Given the description of an element on the screen output the (x, y) to click on. 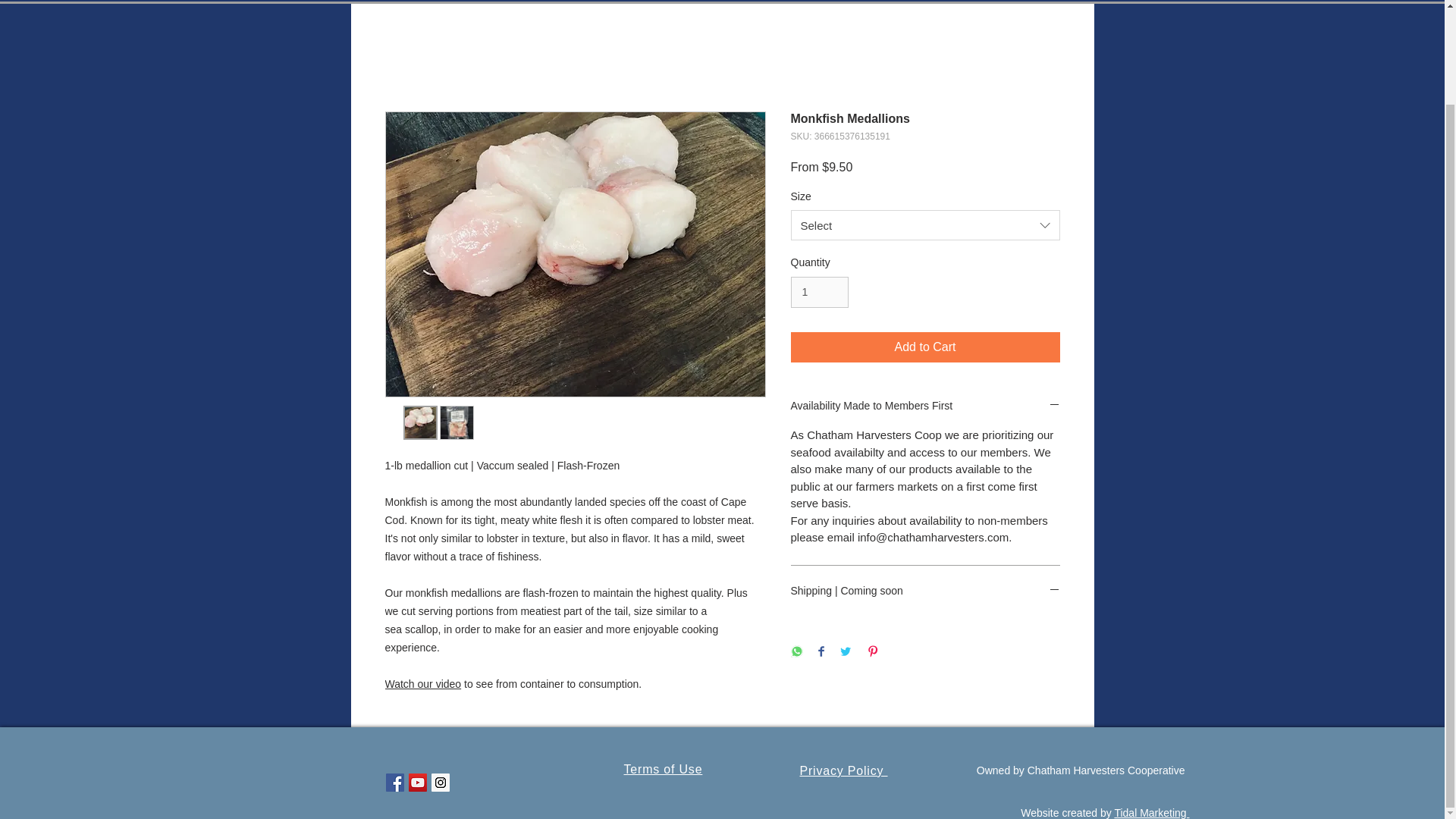
1 (818, 291)
Terms of Use (662, 768)
Privacy Policy  (842, 770)
Select (924, 224)
Watch our video (423, 684)
Availability Made to Members First (924, 406)
Add to Cart (924, 347)
